Given the description of an element on the screen output the (x, y) to click on. 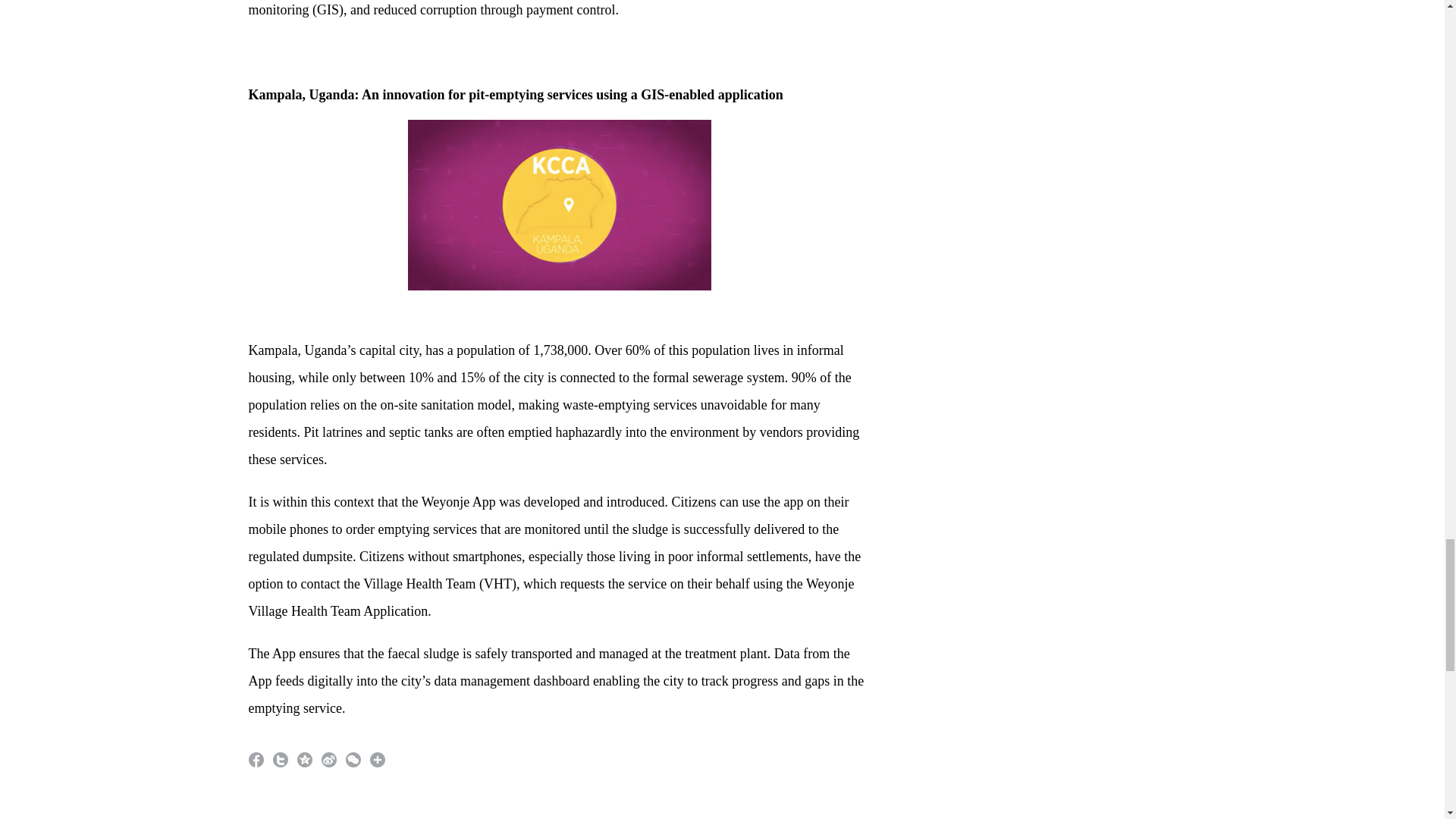
QQKJ (305, 759)
More (377, 759)
Twitter (280, 759)
WeiXin (353, 759)
Sina (328, 759)
Facebook (255, 759)
